Given the description of an element on the screen output the (x, y) to click on. 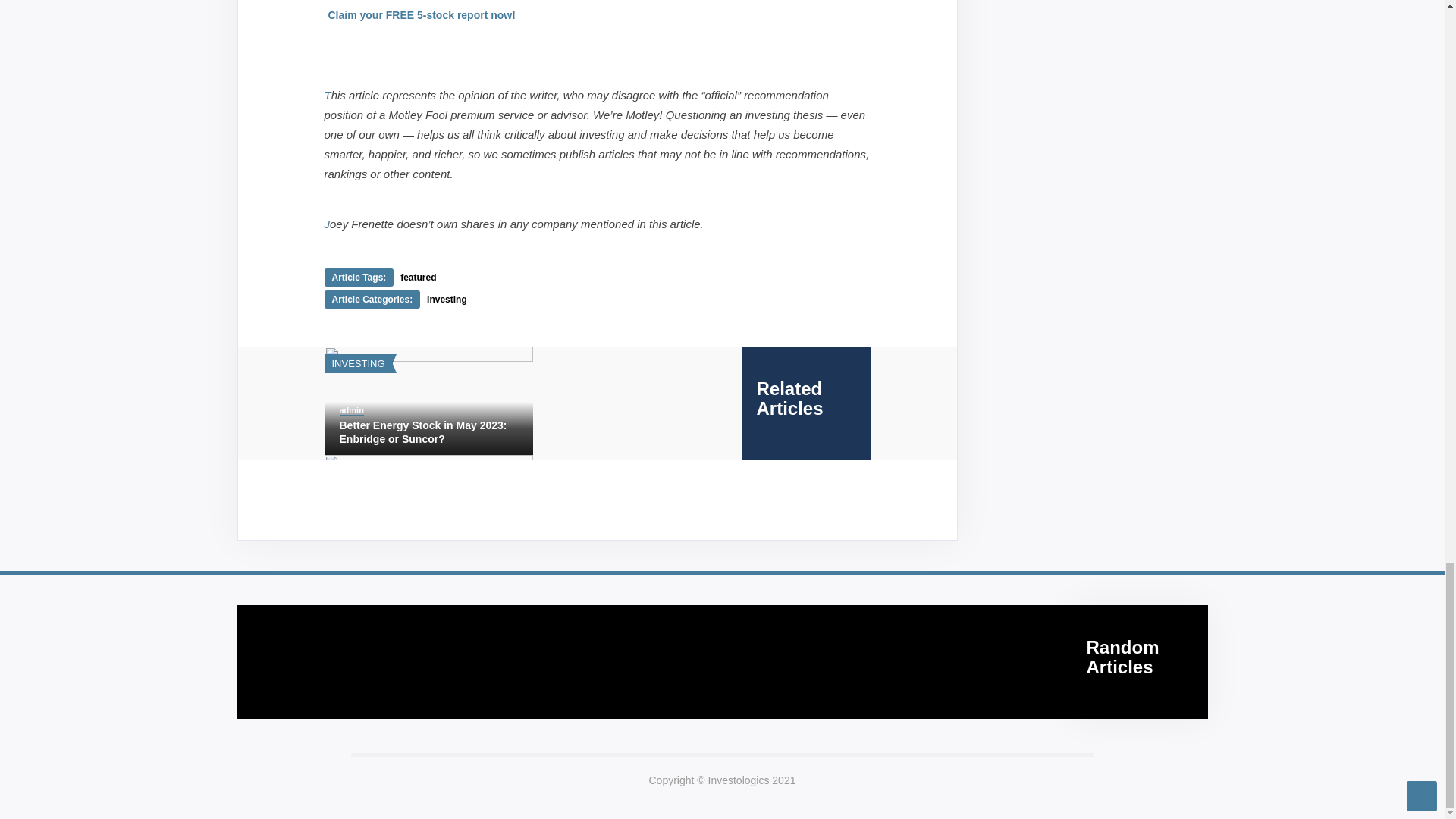
featured (417, 276)
admin (351, 410)
Posts by admin (351, 410)
View all posts in Investing (358, 363)
INVESTING (358, 363)
Better Energy Stock in May 2023: Enbridge or Suncor? (428, 431)
Claim your FREE 5-stock report now! (421, 14)
Investing (446, 299)
